Given the description of an element on the screen output the (x, y) to click on. 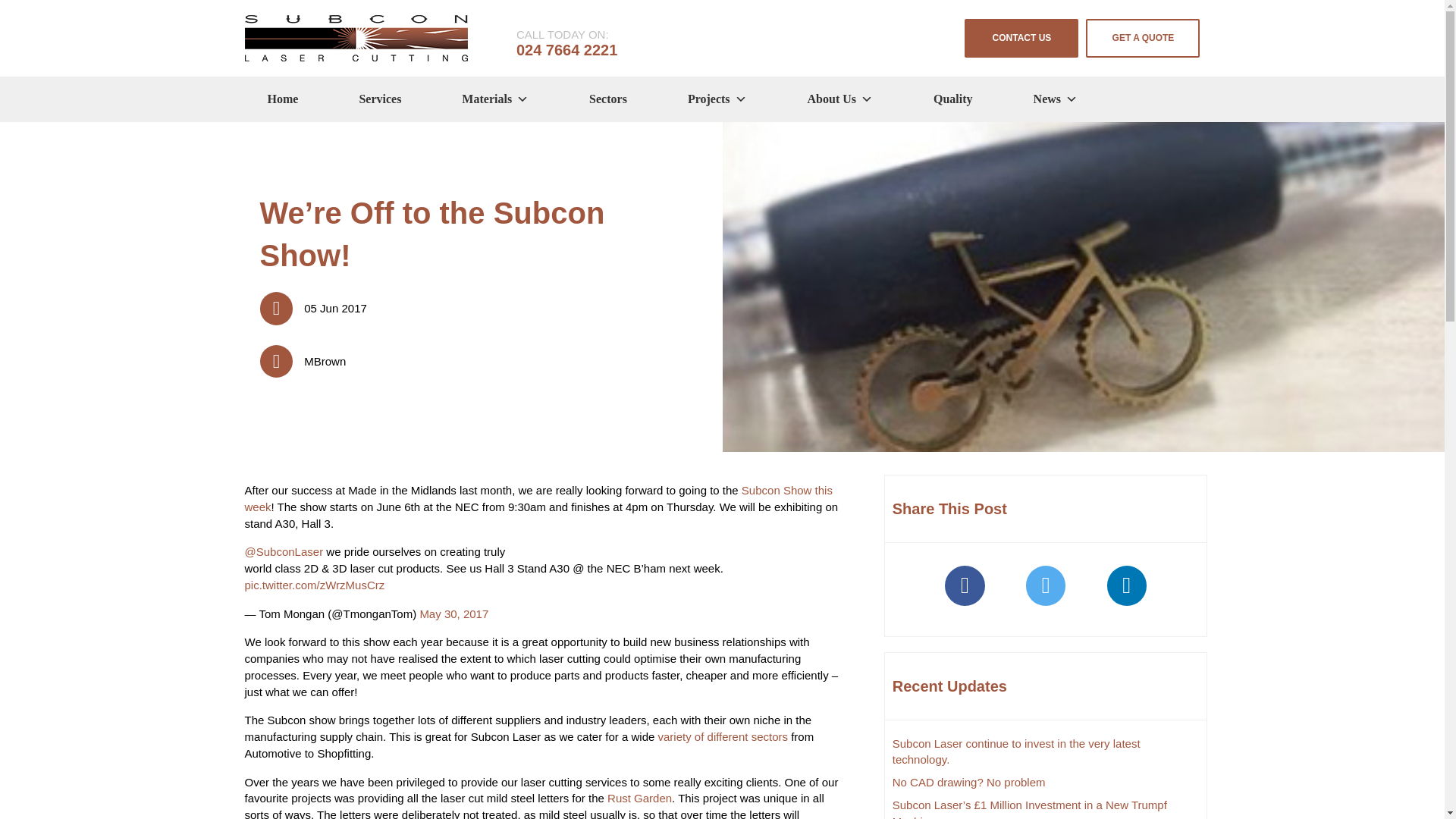
Home (282, 99)
Materials (494, 99)
GET A QUOTE (1142, 38)
Projects (717, 99)
CONTACT US (1020, 38)
About Us (839, 99)
Services (379, 99)
Quality (952, 99)
Subcon Show this week (537, 498)
024 7664 2221 (566, 49)
logo (355, 38)
News (1055, 99)
Sectors (608, 99)
CONTACT US (1020, 38)
